Given the description of an element on the screen output the (x, y) to click on. 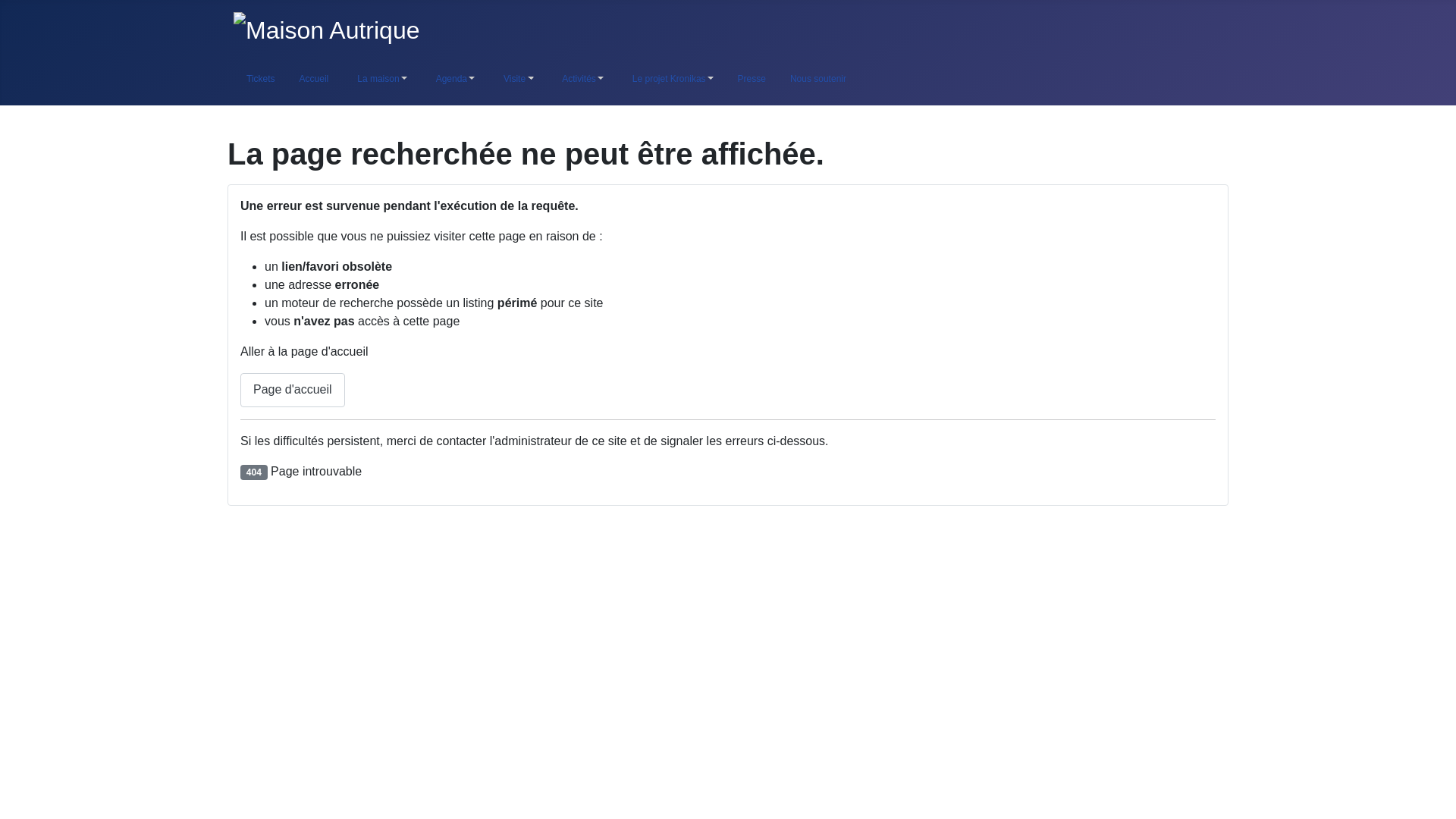
Agenda Element type: text (452, 78)
La maison Element type: text (378, 78)
Accueil Element type: text (313, 78)
Nous soutenir Element type: text (817, 78)
Presse Element type: text (750, 78)
Tickets Element type: text (259, 78)
Page d'accueil Element type: text (292, 390)
Le projet Kronikas Element type: text (669, 78)
Visite Element type: text (515, 78)
